Given the description of an element on the screen output the (x, y) to click on. 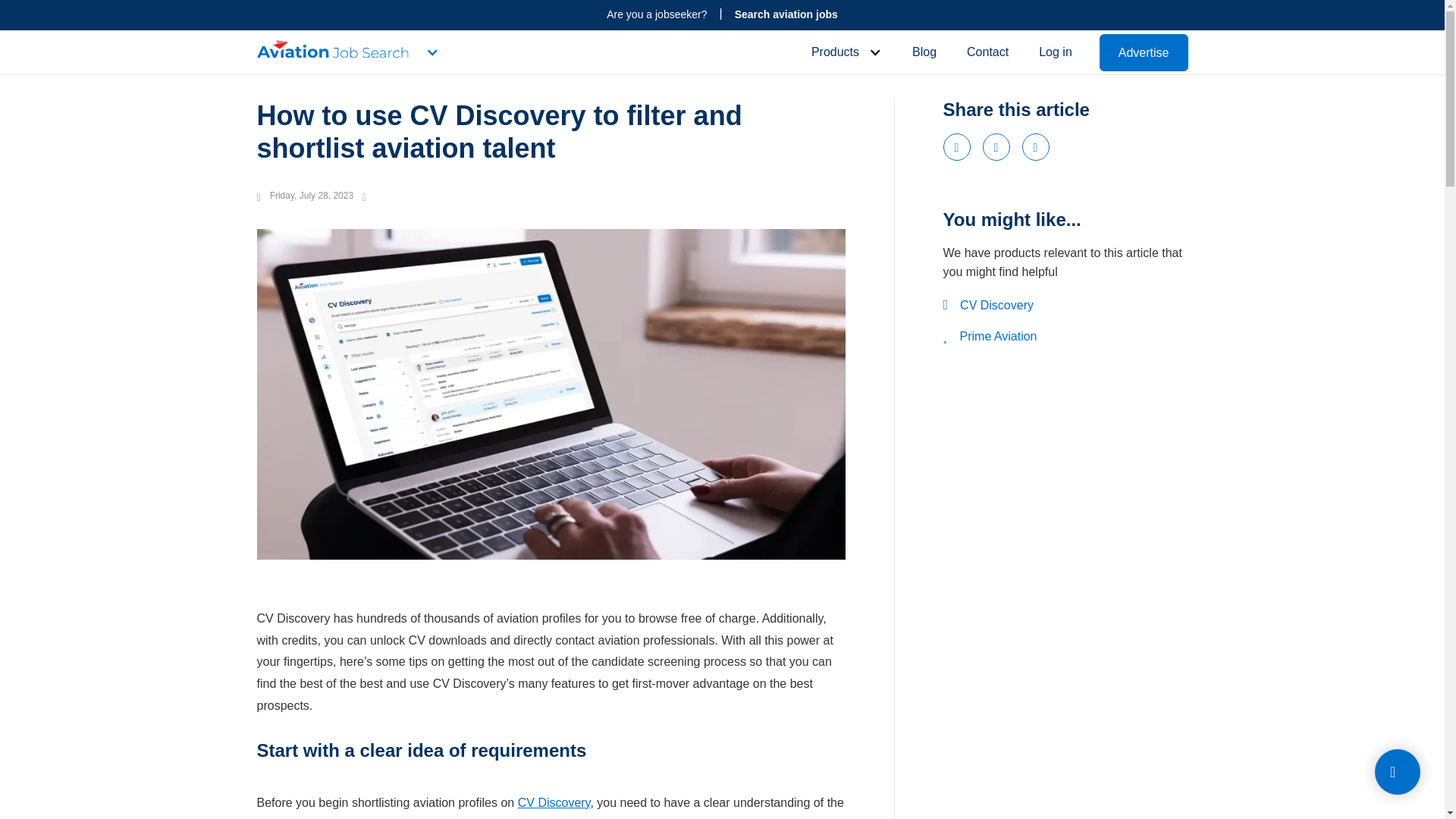
Share on Facebook (957, 146)
Share on Twitter (996, 146)
Share on LinkedIn (1035, 146)
